Given the description of an element on the screen output the (x, y) to click on. 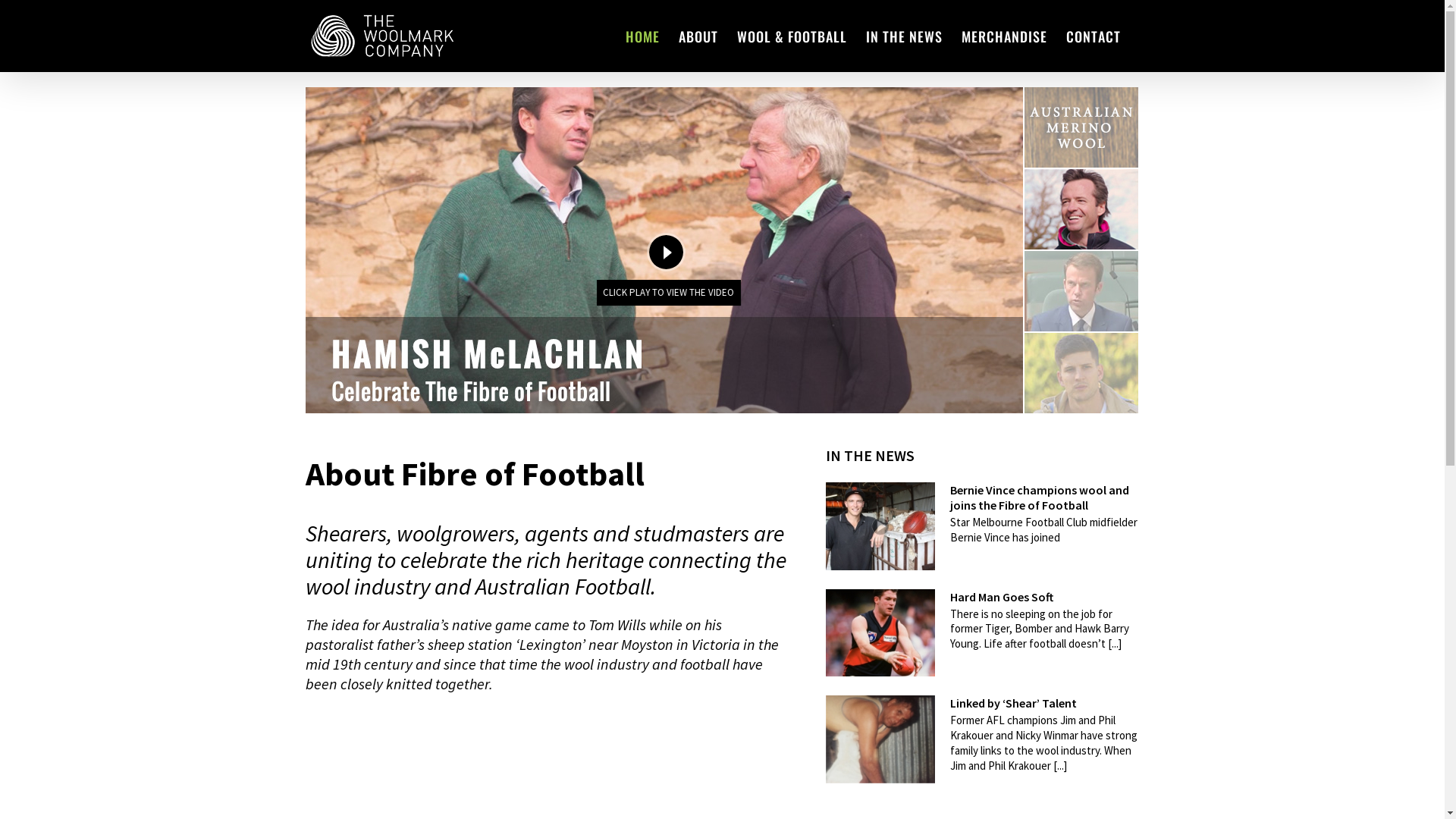
HOME Element type: text (641, 35)
[...] Element type: text (1059, 765)
Hard Man Goes Soft Element type: text (1001, 596)
Bernie Vince champions wool and joins the Fibre of Football Element type: text (1039, 497)
ABOUT Element type: text (697, 35)
IN THE NEWS Element type: text (904, 35)
[...] Element type: text (1114, 643)
MERCHANDISE Element type: text (1004, 35)
CONTACT Element type: text (1093, 35)
WOOL & FOOTBALL Element type: text (792, 35)
